Given the description of an element on the screen output the (x, y) to click on. 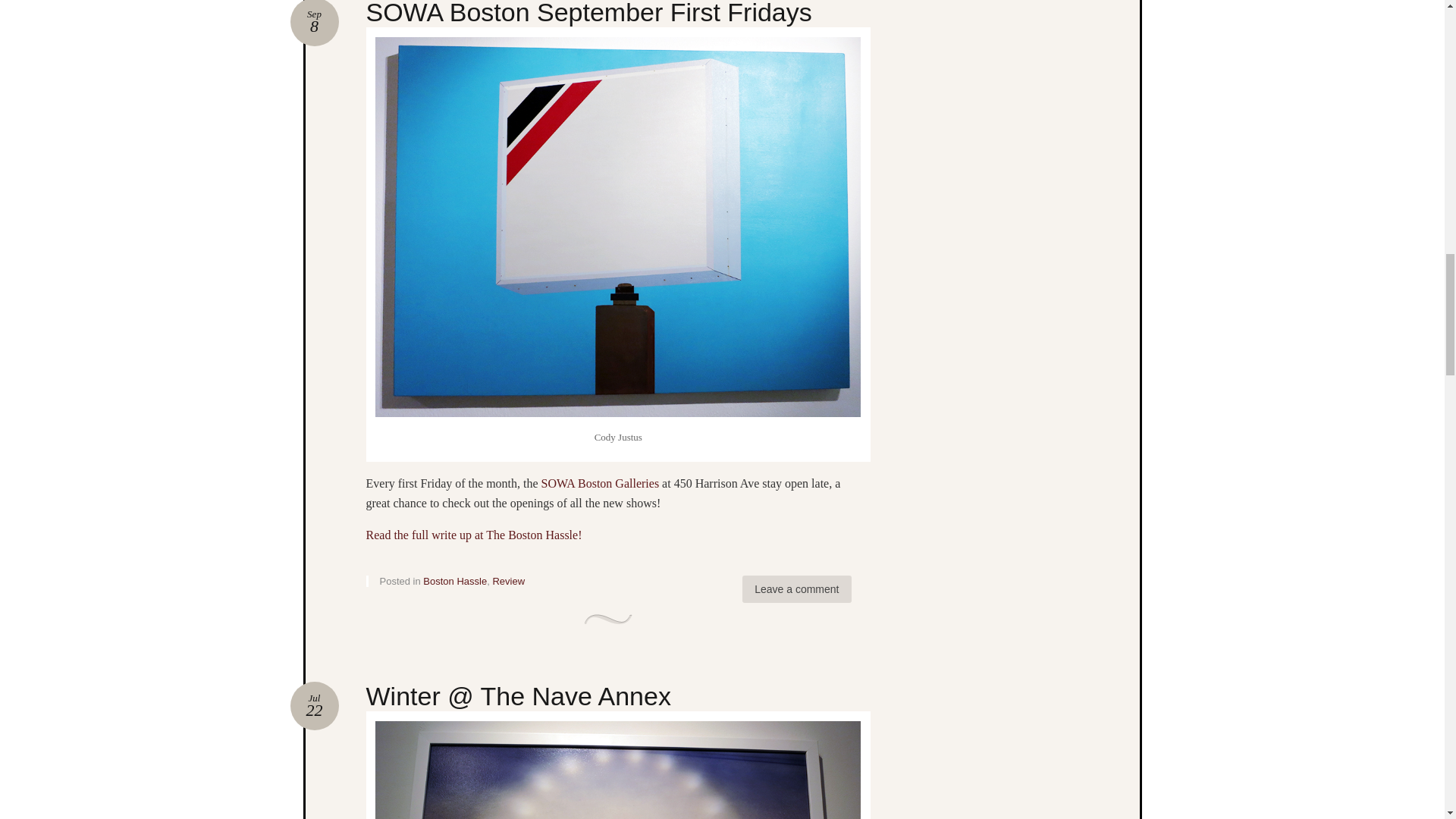
SOWA Boston Galleries (600, 482)
July 22 2014 (313, 705)
Leave a comment (796, 588)
Boston Hassle (313, 22)
September 8 2014 (313, 705)
Permalink to SOWA Boston September First Fridays (454, 581)
Review (313, 22)
Read the full write up at The Boston Hassle! (587, 13)
SOWA Boston September First Fridays (508, 581)
